Given the description of an element on the screen output the (x, y) to click on. 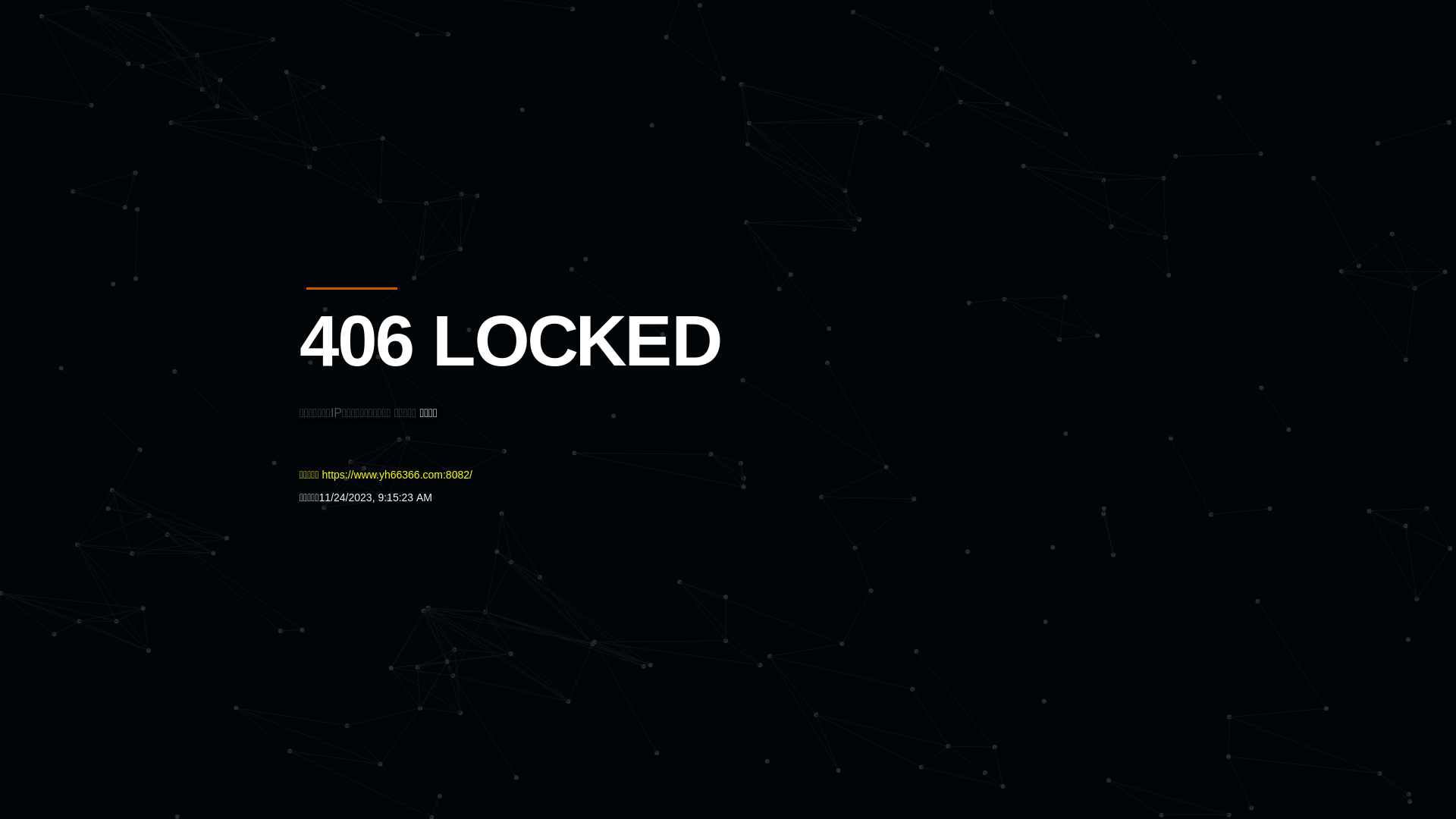
Quatro Element type: text (410, 86)
